Given the description of an element on the screen output the (x, y) to click on. 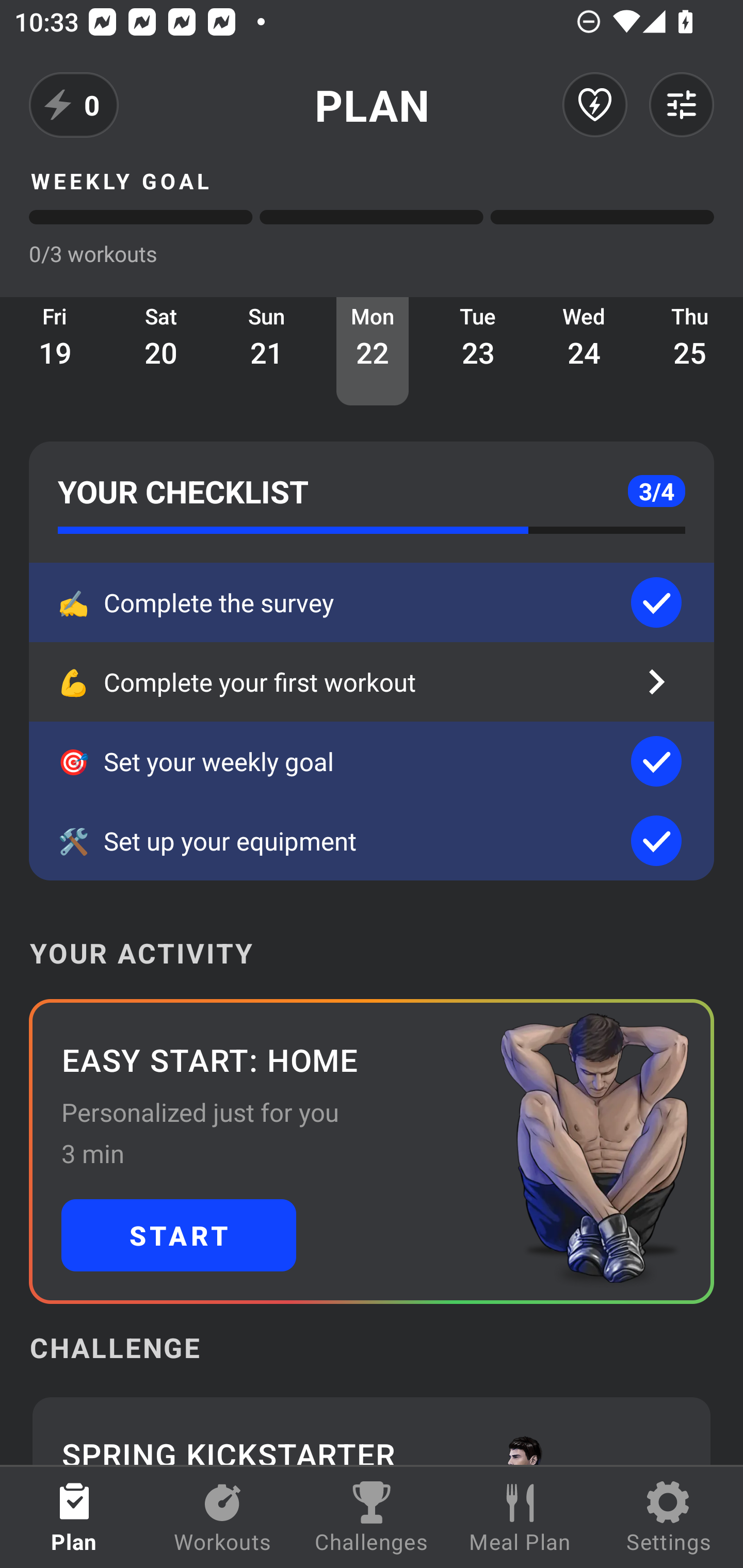
0 (73, 104)
Fri 19 (55, 351)
Sat 20 (160, 351)
Sun 21 (266, 351)
Mon 22 (372, 351)
Tue 23 (478, 351)
Wed 24 (584, 351)
Thu 25 (690, 351)
💪 Complete your first workout (371, 681)
START (178, 1235)
 Workouts  (222, 1517)
 Challenges  (371, 1517)
 Meal Plan  (519, 1517)
 Settings  (668, 1517)
